Given the description of an element on the screen output the (x, y) to click on. 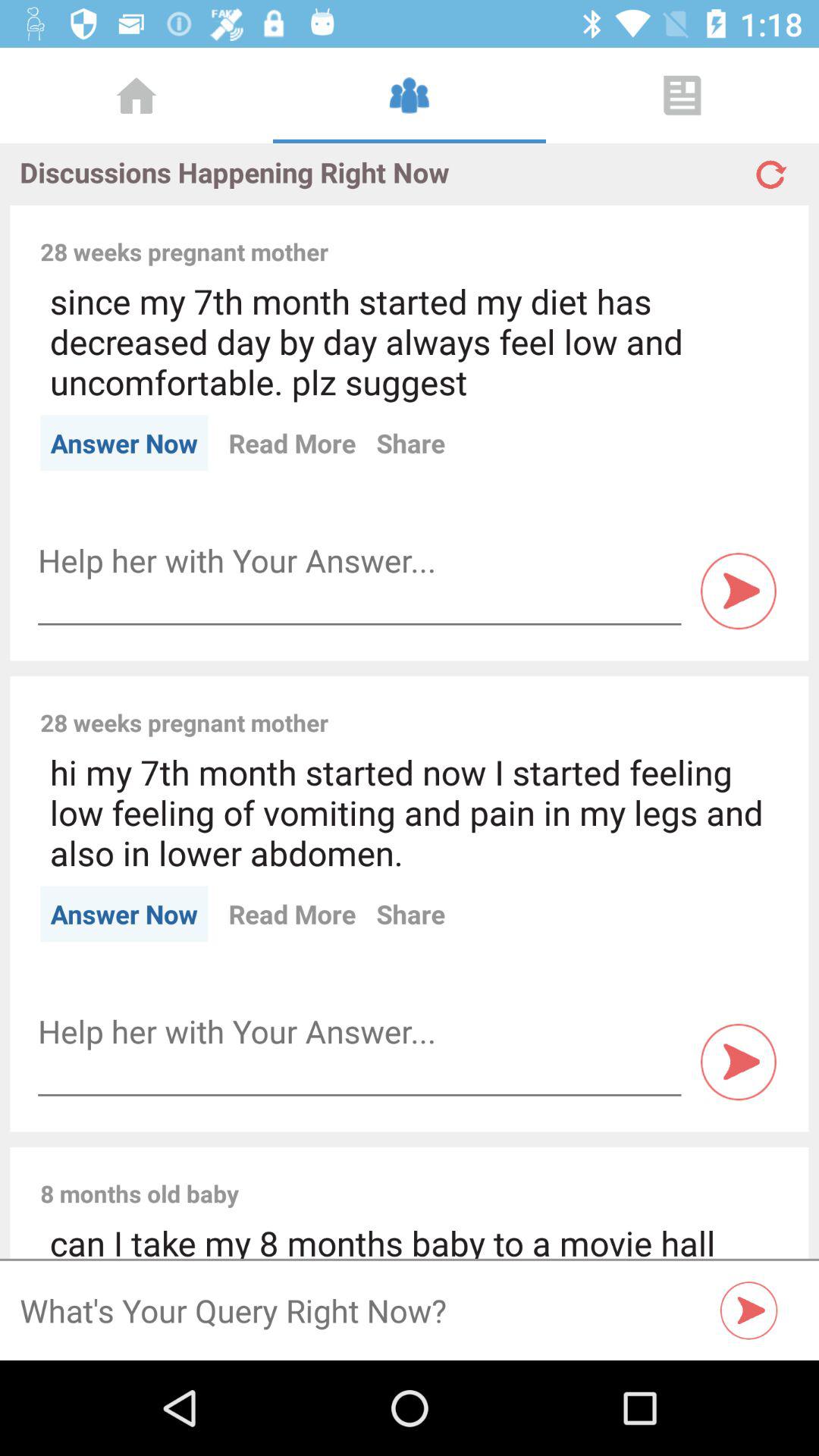
type answer (359, 560)
